Given the description of an element on the screen output the (x, y) to click on. 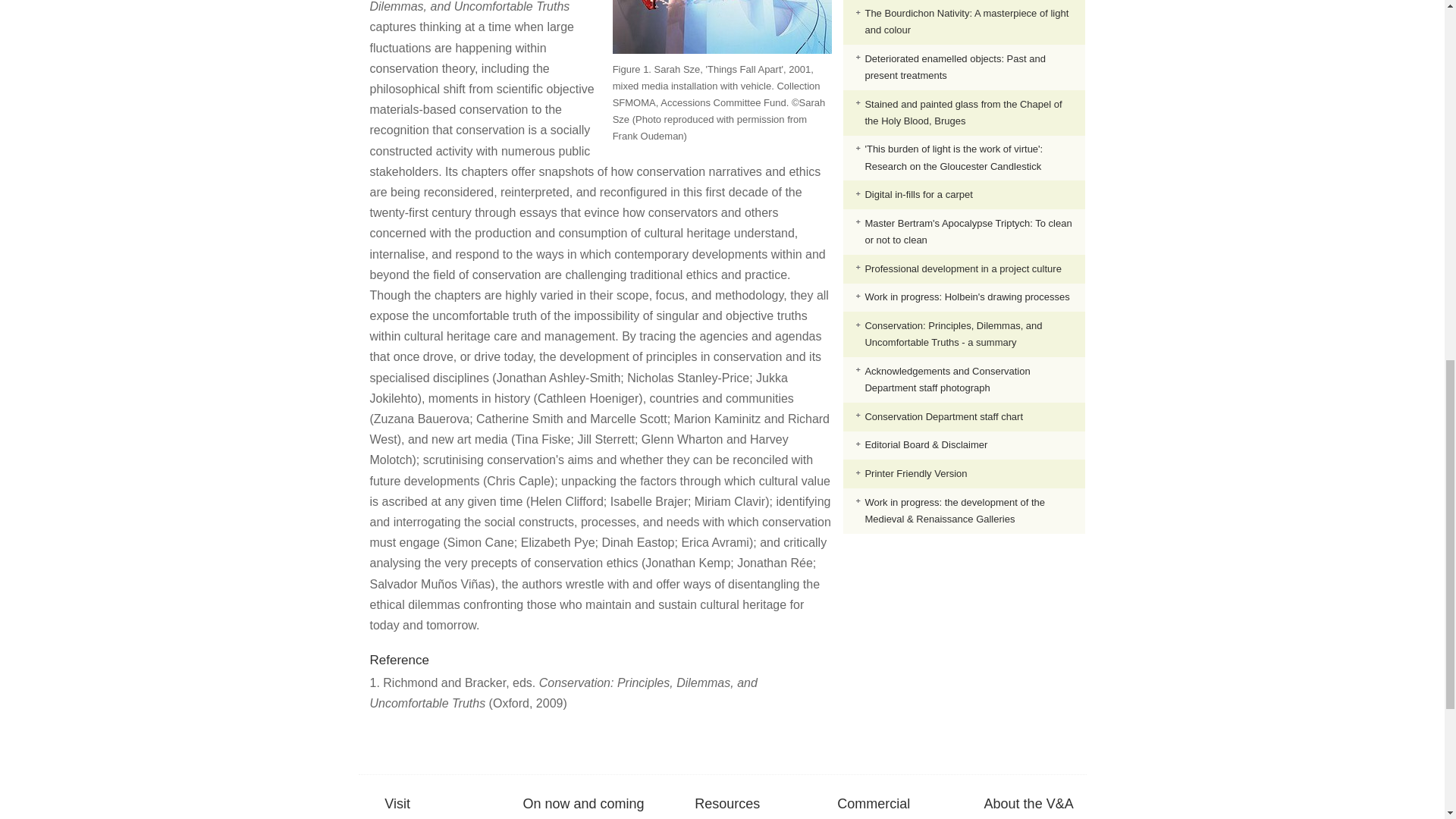
Deteriorated enamelled objects: Past and present treatments (954, 67)
Click to edit (721, 102)
The Bourdichon Nativity: A masterpiece of light and colour (966, 21)
Digital in-fills for a carpet (918, 194)
